Given the description of an element on the screen output the (x, y) to click on. 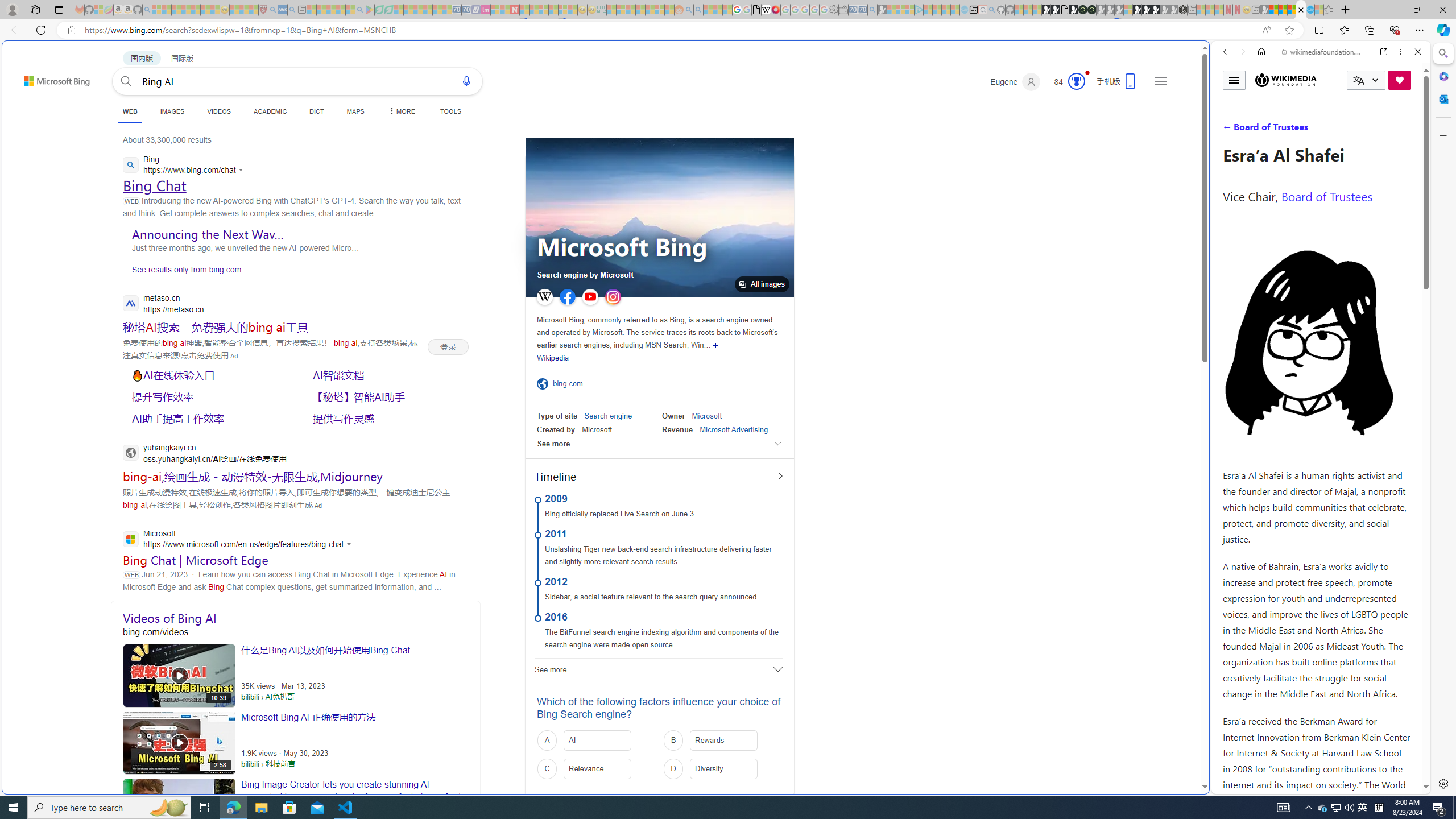
WEB (129, 111)
Search Filter, Search Tools (1350, 129)
Utah sues federal government - Search - Sleeping (697, 9)
Class: sp-ofsite (542, 383)
Skip to content (35, 76)
Created by (556, 429)
SERP,5522 (388, 418)
World - MSN (727, 389)
Back to Bing search (50, 78)
SERP,5515 (448, 346)
